Given the description of an element on the screen output the (x, y) to click on. 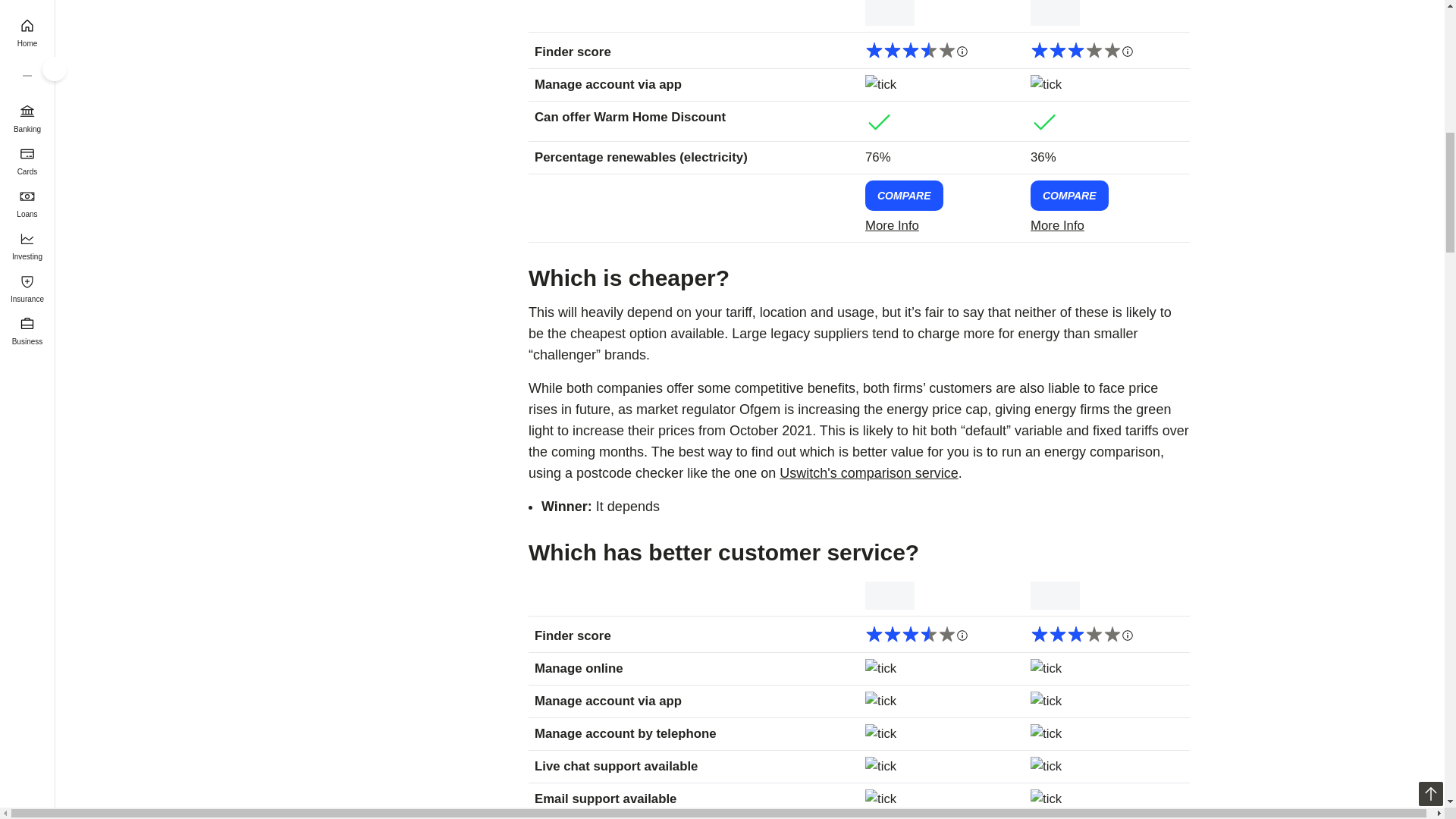
Apply Now For The ScottishPower Energy Finder (1069, 195)
Read More About The ScottishPower Energy Finder (1106, 225)
Apply Now For The British Gas Energy Finder (903, 195)
Read More About The British Gas Energy Finder (940, 225)
